Given the description of an element on the screen output the (x, y) to click on. 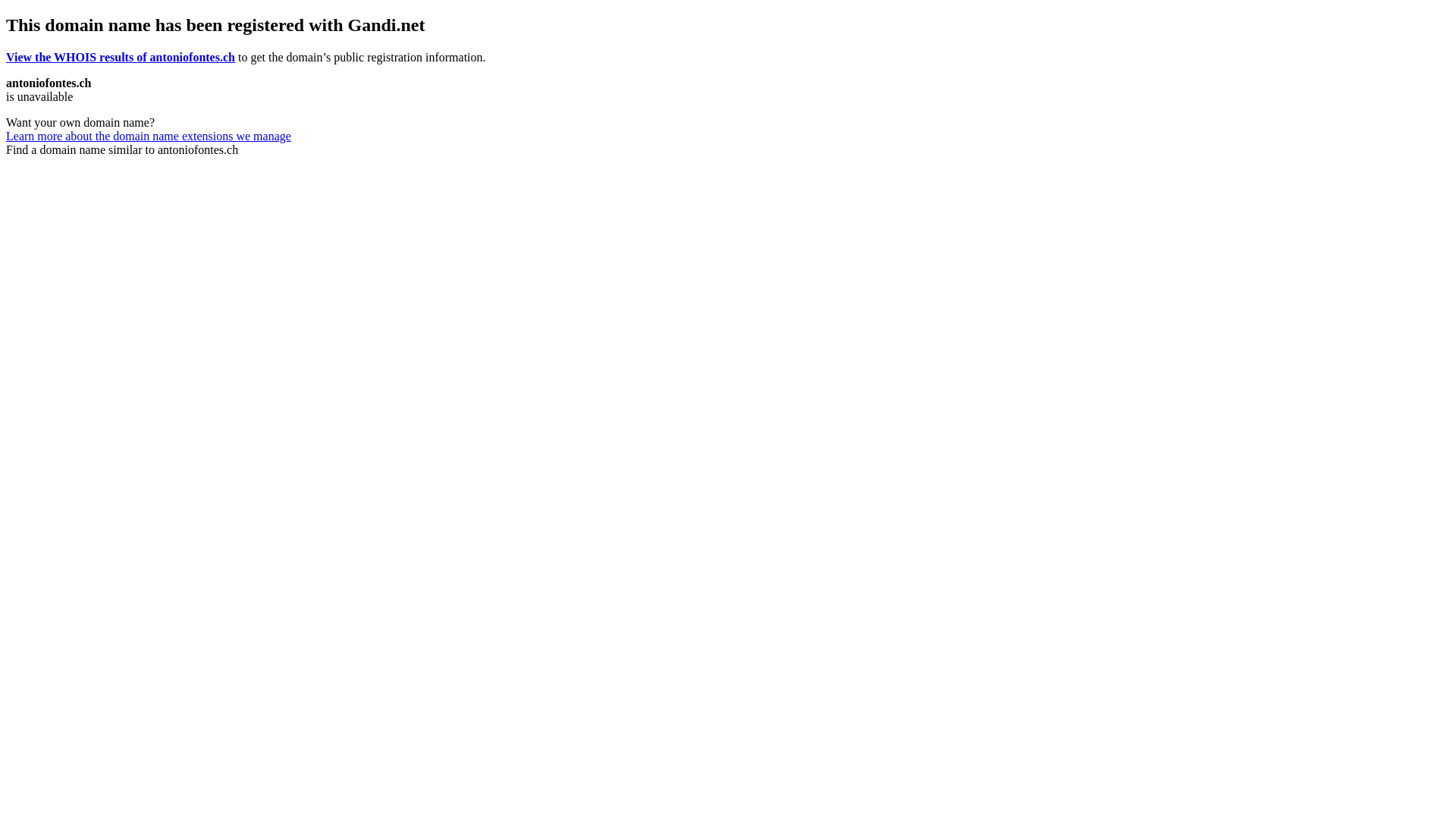
Find a domain name similar to antoniofontes.ch Element type: text (122, 149)
Learn more about the domain name extensions we manage Element type: text (148, 135)
View the WHOIS results of antoniofontes.ch Element type: text (120, 56)
